Given the description of an element on the screen output the (x, y) to click on. 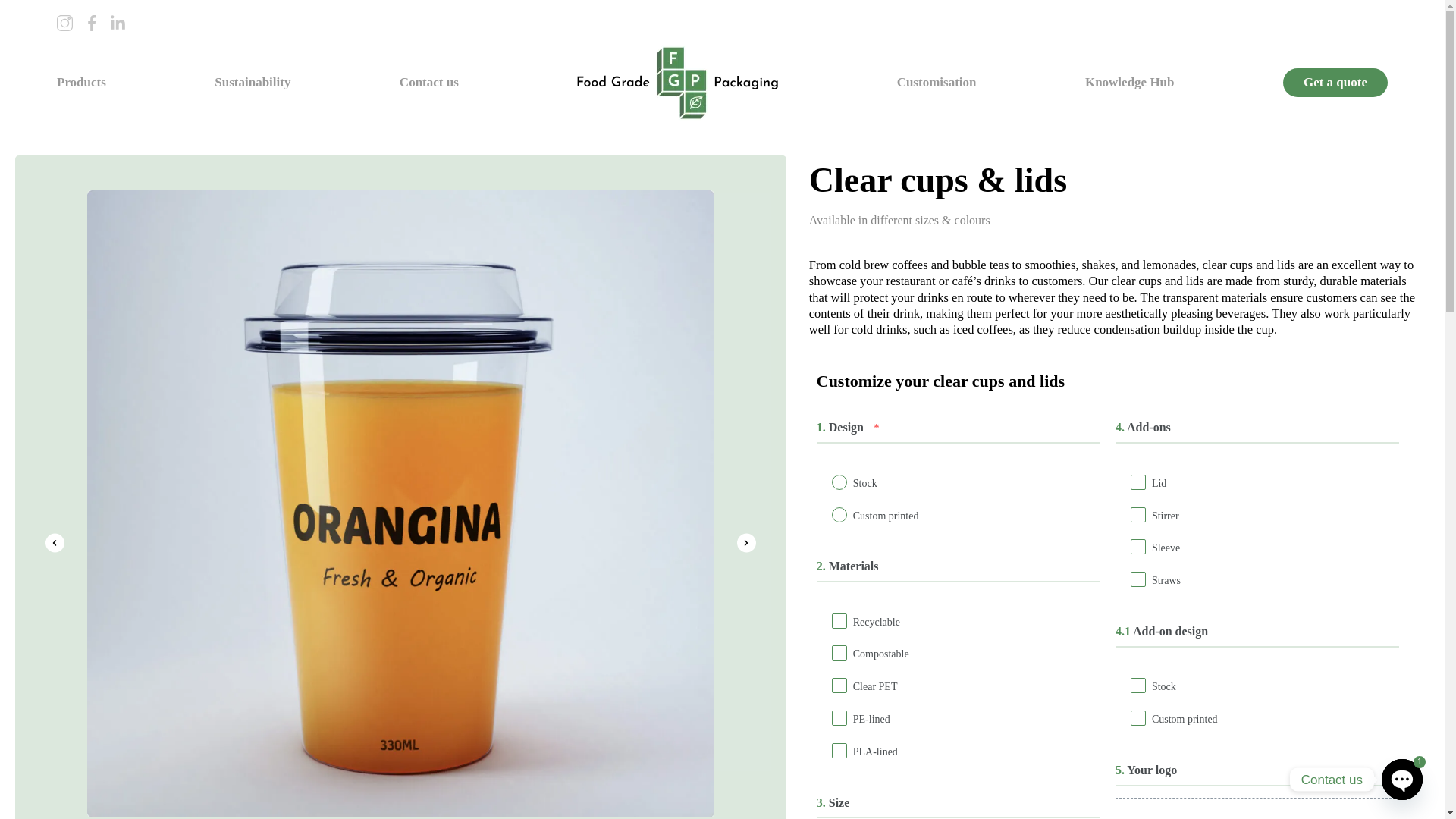
Stirrer (1138, 515)
Stock (839, 484)
PE-lined (839, 719)
Contact us (428, 82)
Products (81, 82)
Recyclable (839, 622)
Custom printed (1138, 719)
Straws (1138, 580)
Required (876, 428)
Stock (1138, 687)
Lid (1138, 484)
Sustainability (251, 82)
PLA-lined (839, 751)
Clear PET (839, 687)
Sleeve (1138, 547)
